Given the description of an element on the screen output the (x, y) to click on. 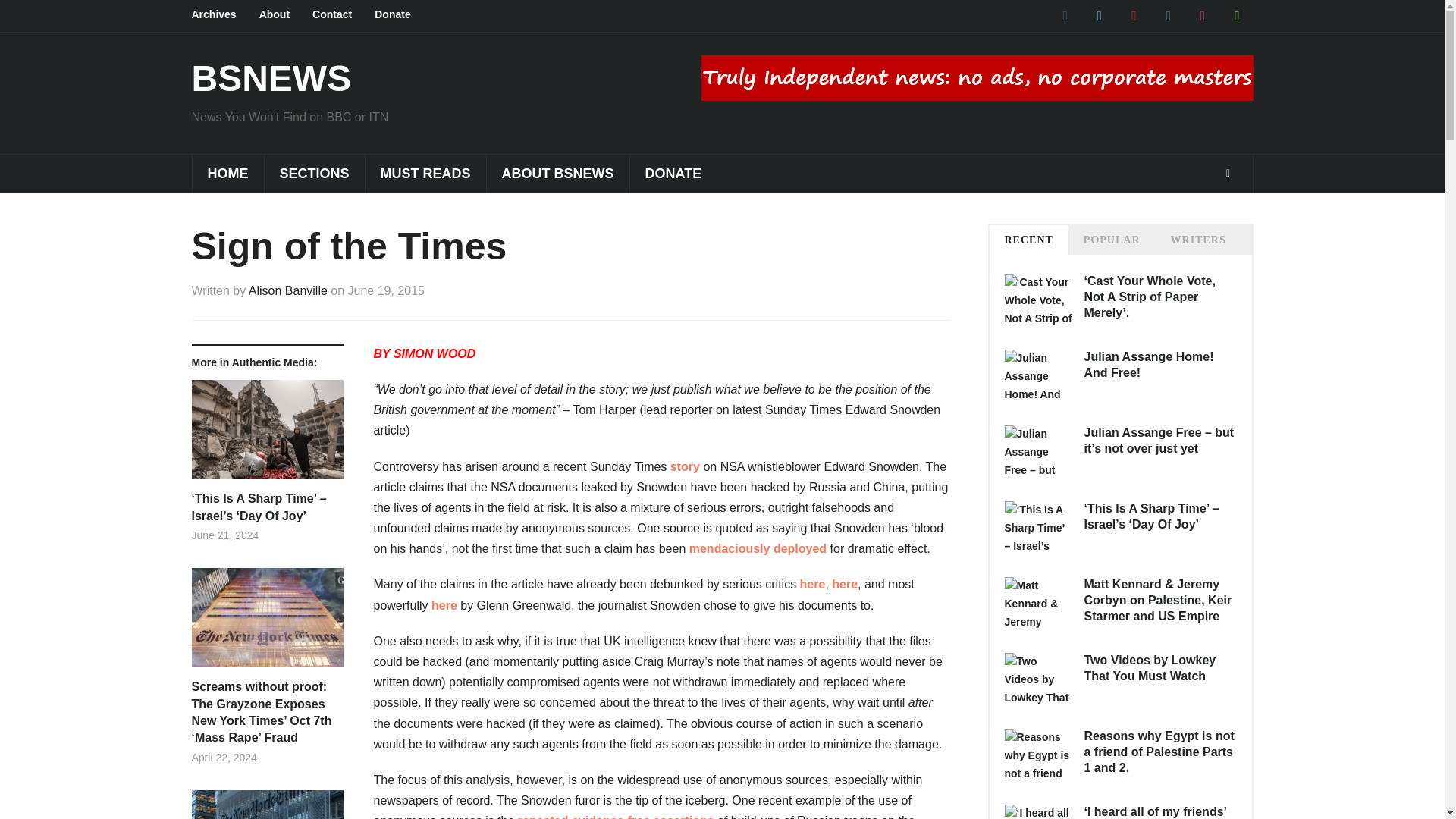
Twitter (1099, 14)
twitter (1099, 14)
BSNEWS (270, 78)
Facebook (1065, 14)
instagram (1202, 14)
News You Won't Find on BBC or ITN (270, 78)
Default Label (1202, 14)
vkontakte (1168, 14)
Archives (224, 15)
About (286, 15)
